Given the description of an element on the screen output the (x, y) to click on. 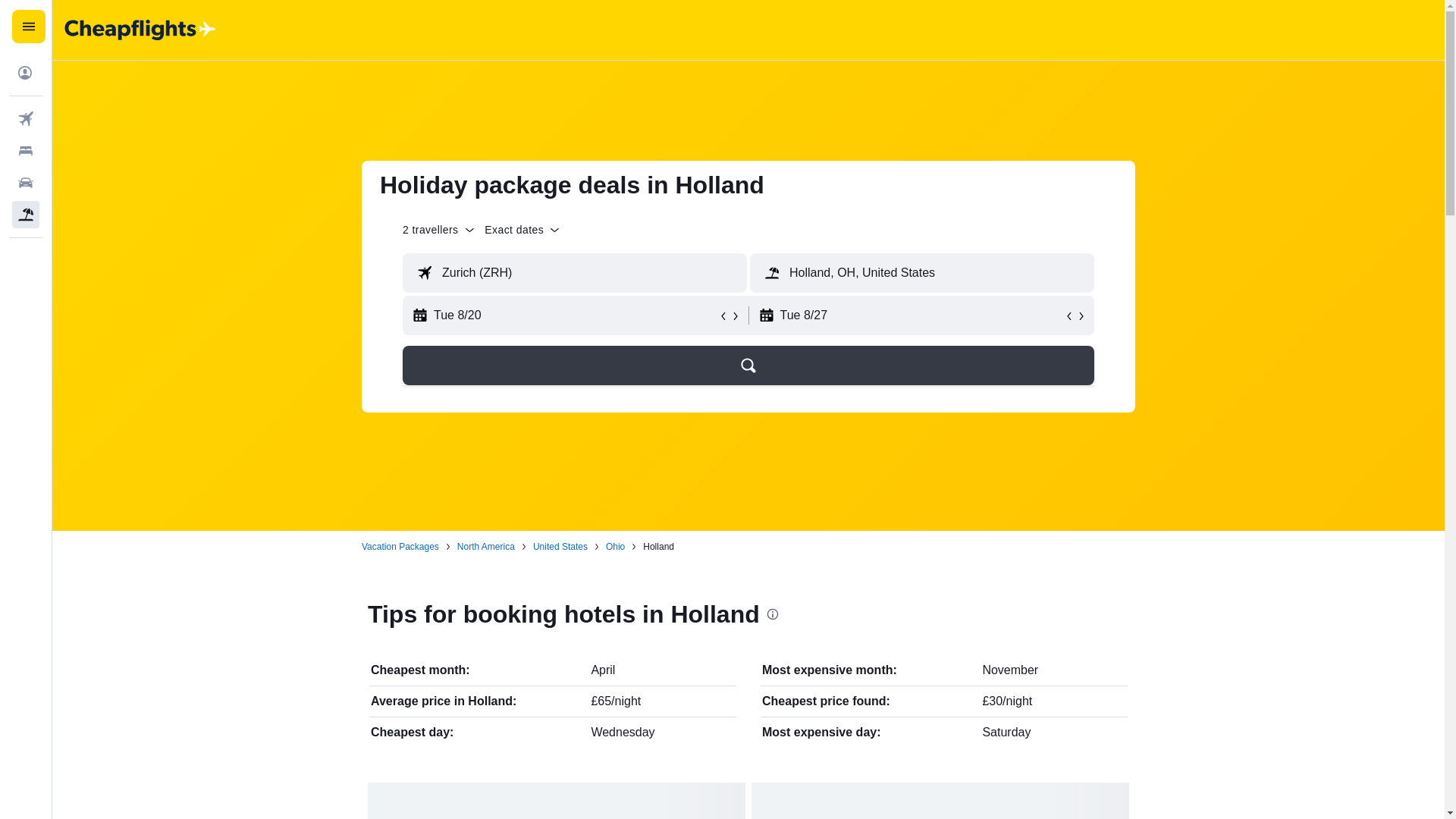
April (602, 669)
Vacation Packages (400, 546)
Wednesday (622, 731)
Ohio (614, 546)
November (1009, 669)
Saturday (1005, 731)
North America (486, 546)
United States (560, 546)
